Given the description of an element on the screen output the (x, y) to click on. 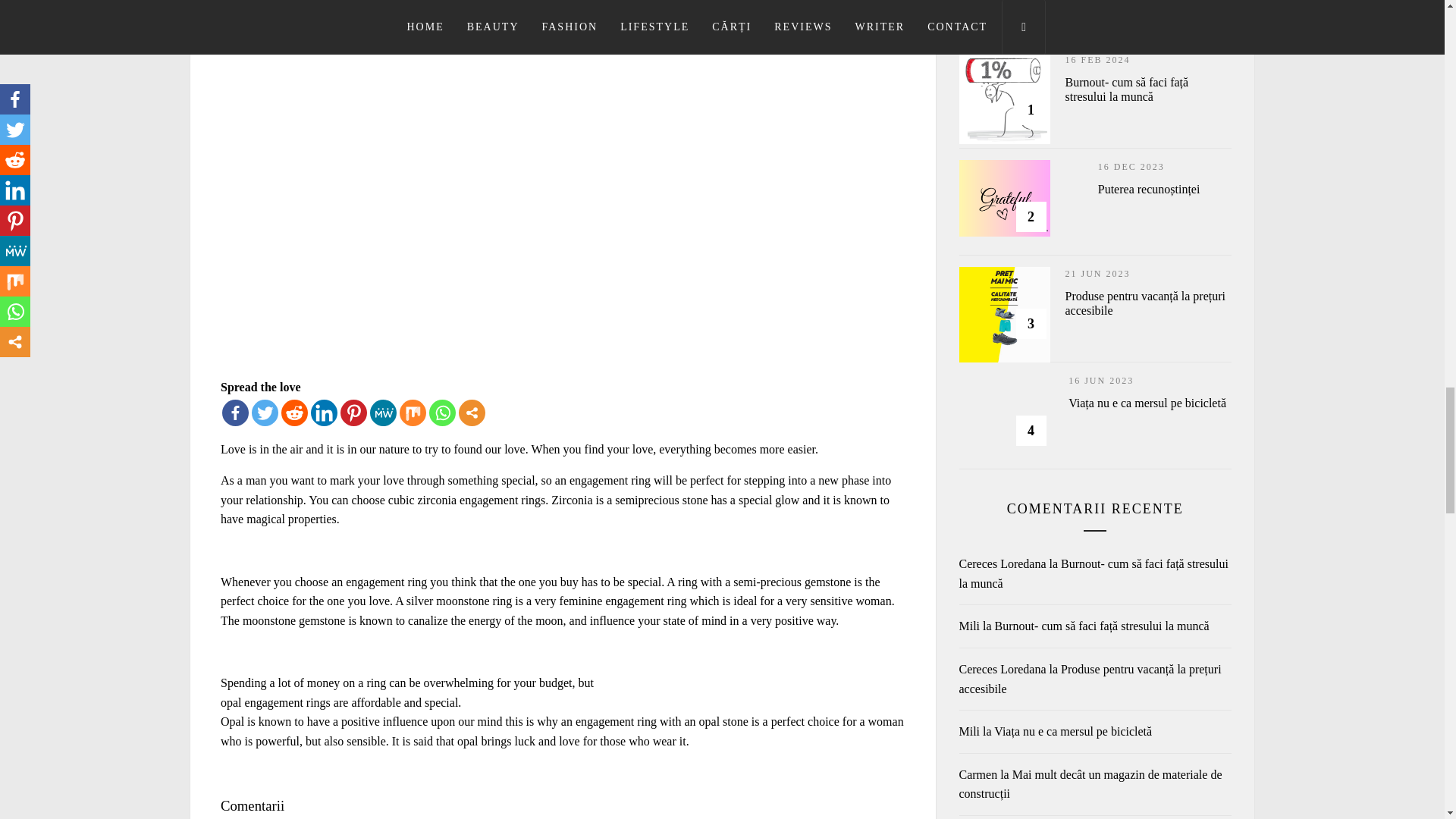
MeWe (382, 412)
LinkedIn (324, 412)
Pinterest (353, 412)
Reddit (294, 412)
Mix (412, 412)
Whatsapp (442, 412)
Twitter (264, 412)
More (471, 412)
Facebook (235, 412)
